Given the description of an element on the screen output the (x, y) to click on. 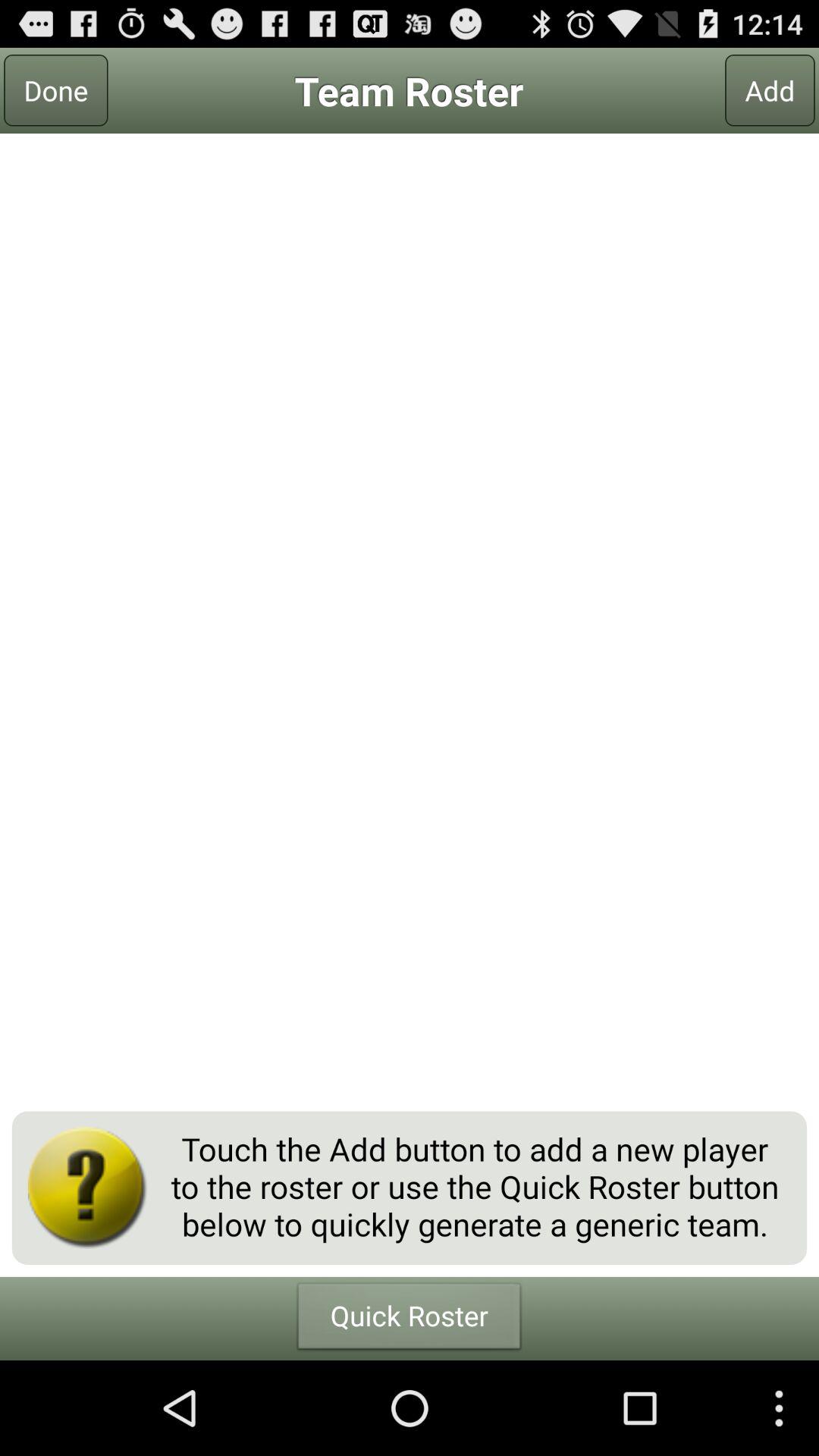
turn off icon next to team roster item (55, 90)
